Given the description of an element on the screen output the (x, y) to click on. 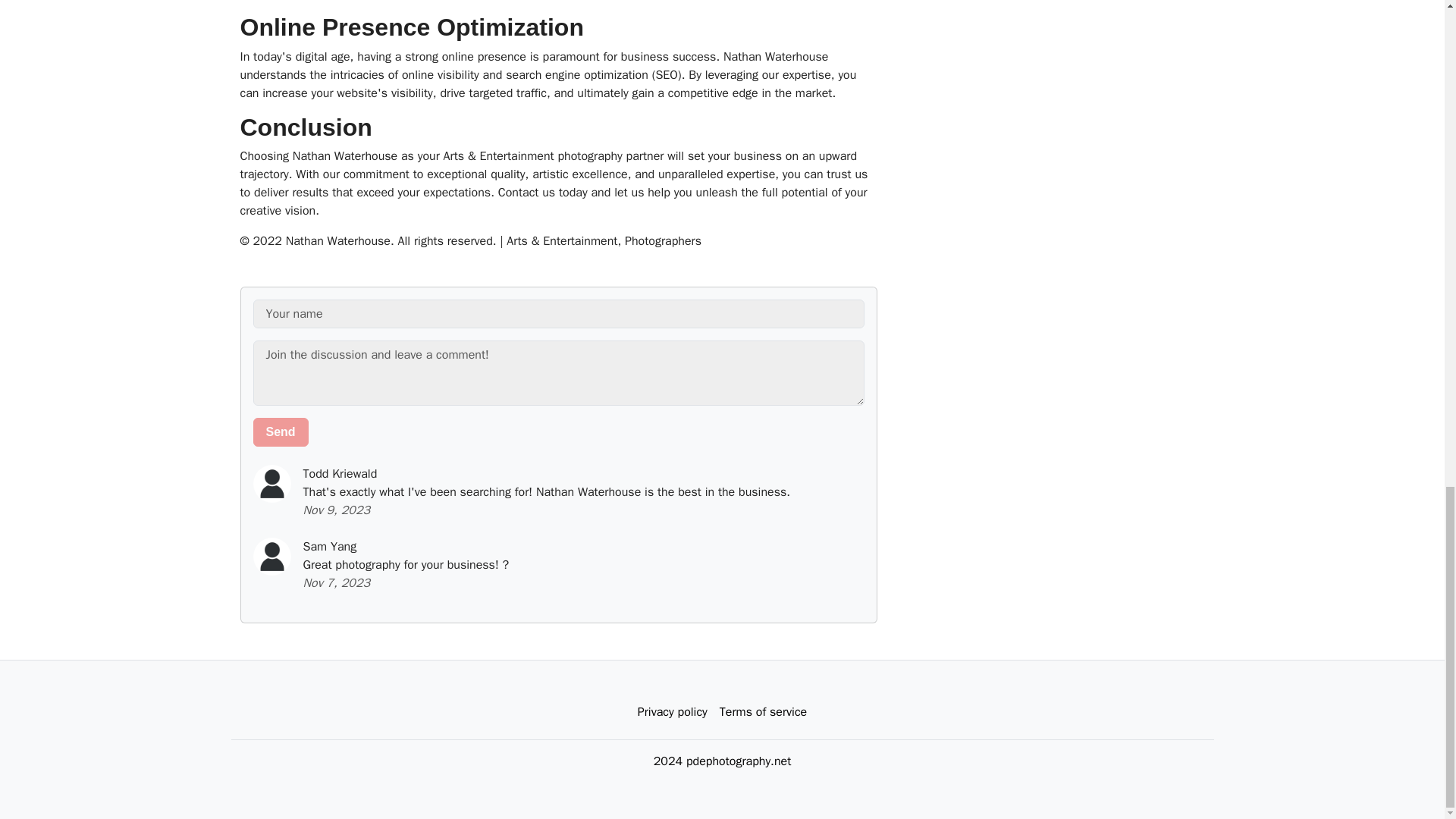
Send (280, 431)
Send (280, 431)
Privacy policy (672, 711)
Terms of service (762, 711)
